Given the description of an element on the screen output the (x, y) to click on. 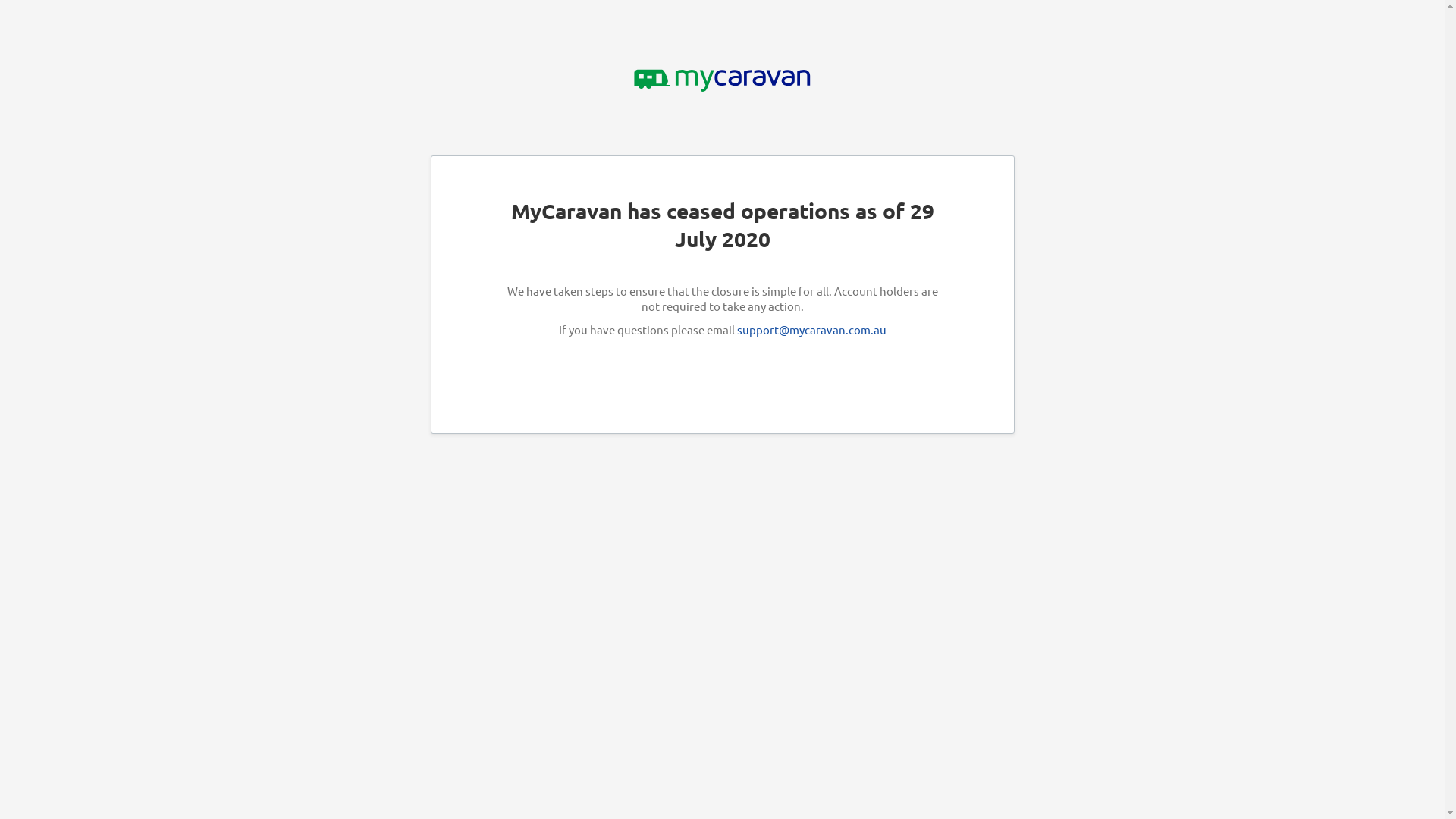
support@mycaravan.com.au Element type: text (811, 329)
